Given the description of an element on the screen output the (x, y) to click on. 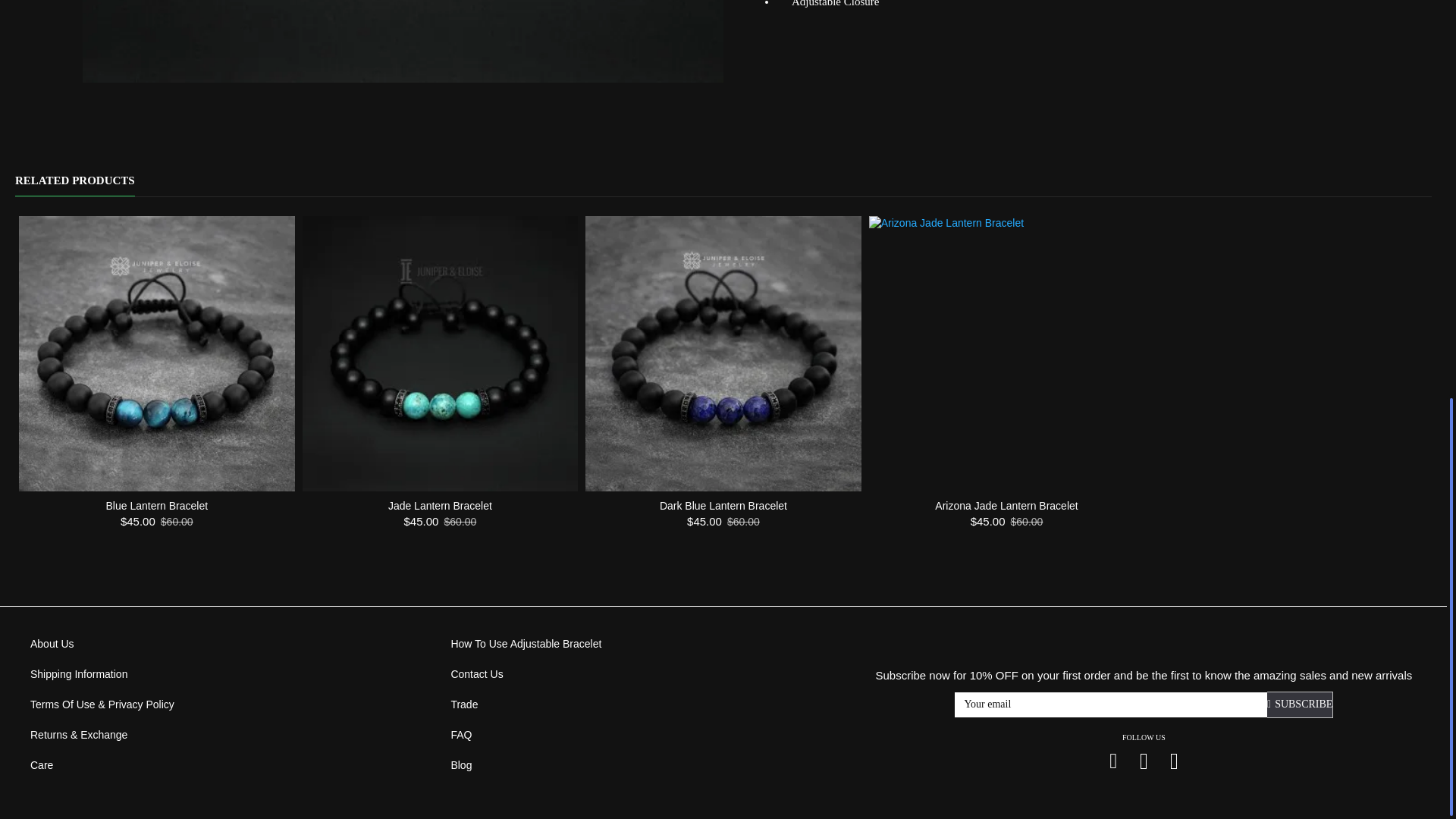
Dark Blue Lantern Bracelet (723, 354)
Arizona Jade Lantern Bracelet (1006, 354)
Azure Blue Lantern Bracelet (402, 41)
Jade Lantern Bracelet (440, 354)
Blue Lantern Bracelet (156, 354)
